Given the description of an element on the screen output the (x, y) to click on. 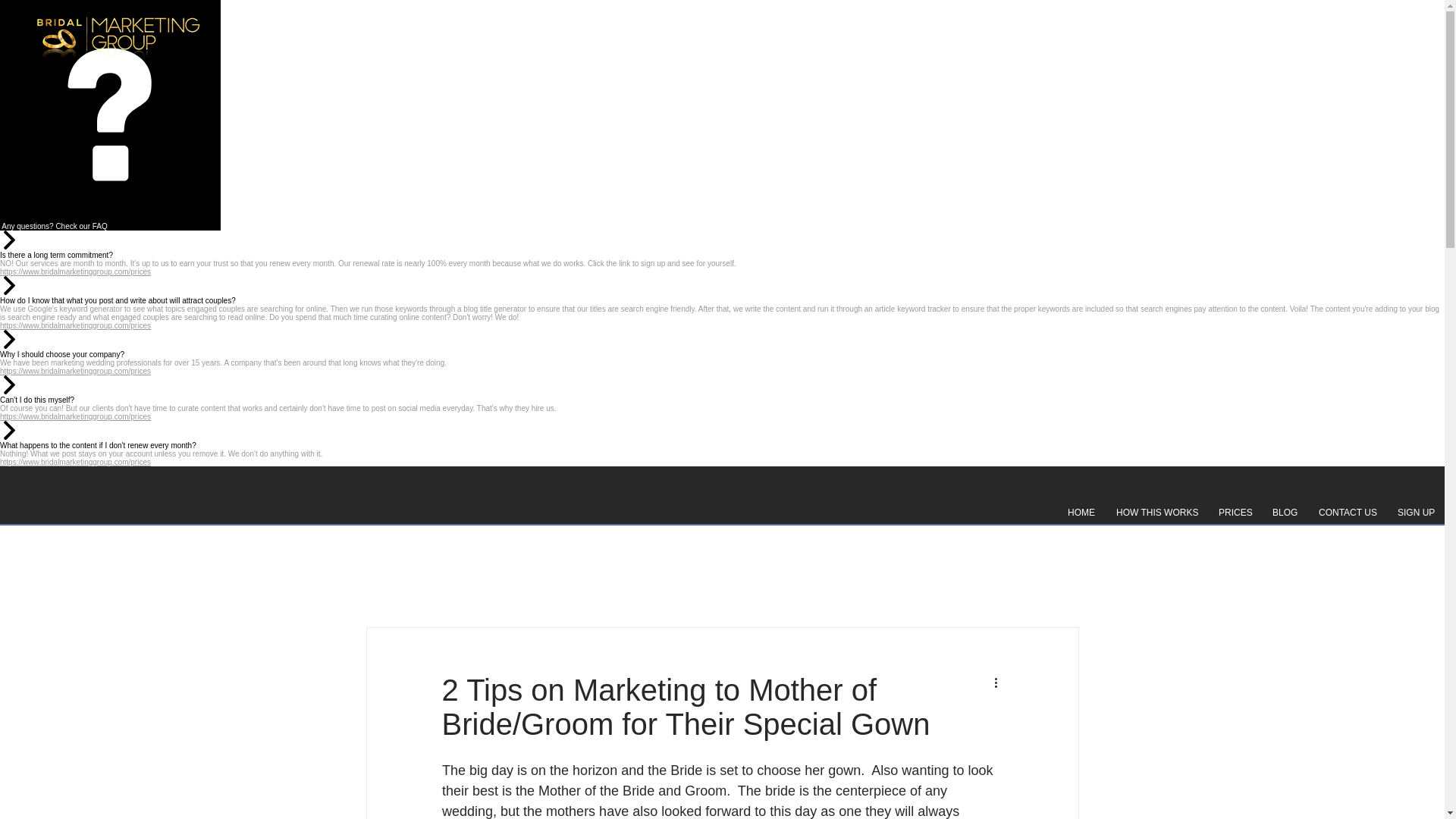
Book More Weddings (784, 580)
PRICES (1233, 512)
Social Media Marketing (504, 580)
CONTACT US (1346, 512)
Wedding Marketing (646, 580)
HOW THIS WORKS (1156, 512)
All Posts (388, 580)
HOME (1081, 512)
BLOG (1283, 512)
Wedding marketing (118, 35)
Wedding Business Tips (931, 580)
